Given the description of an element on the screen output the (x, y) to click on. 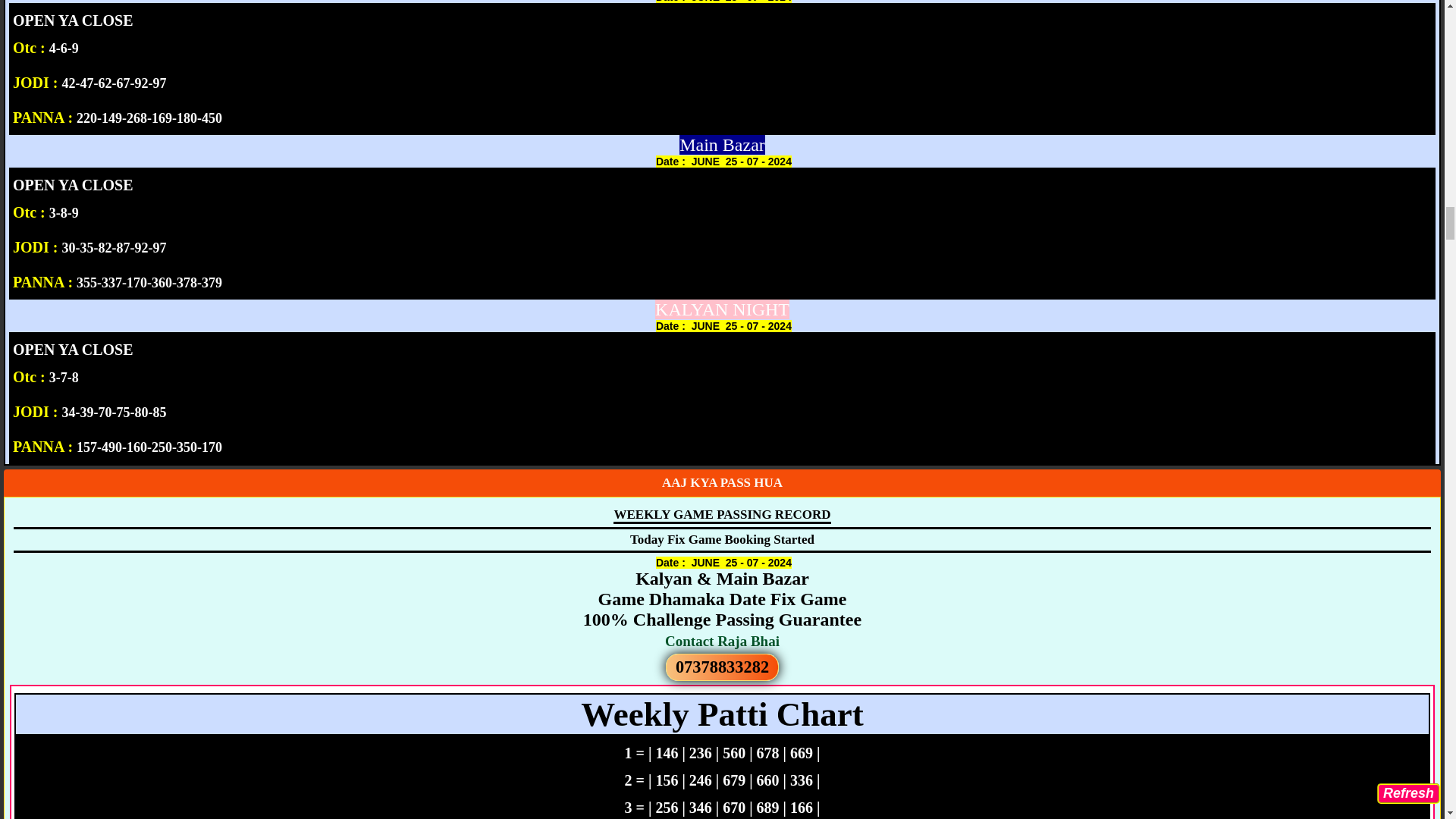
07378833282 (721, 666)
